Given the description of an element on the screen output the (x, y) to click on. 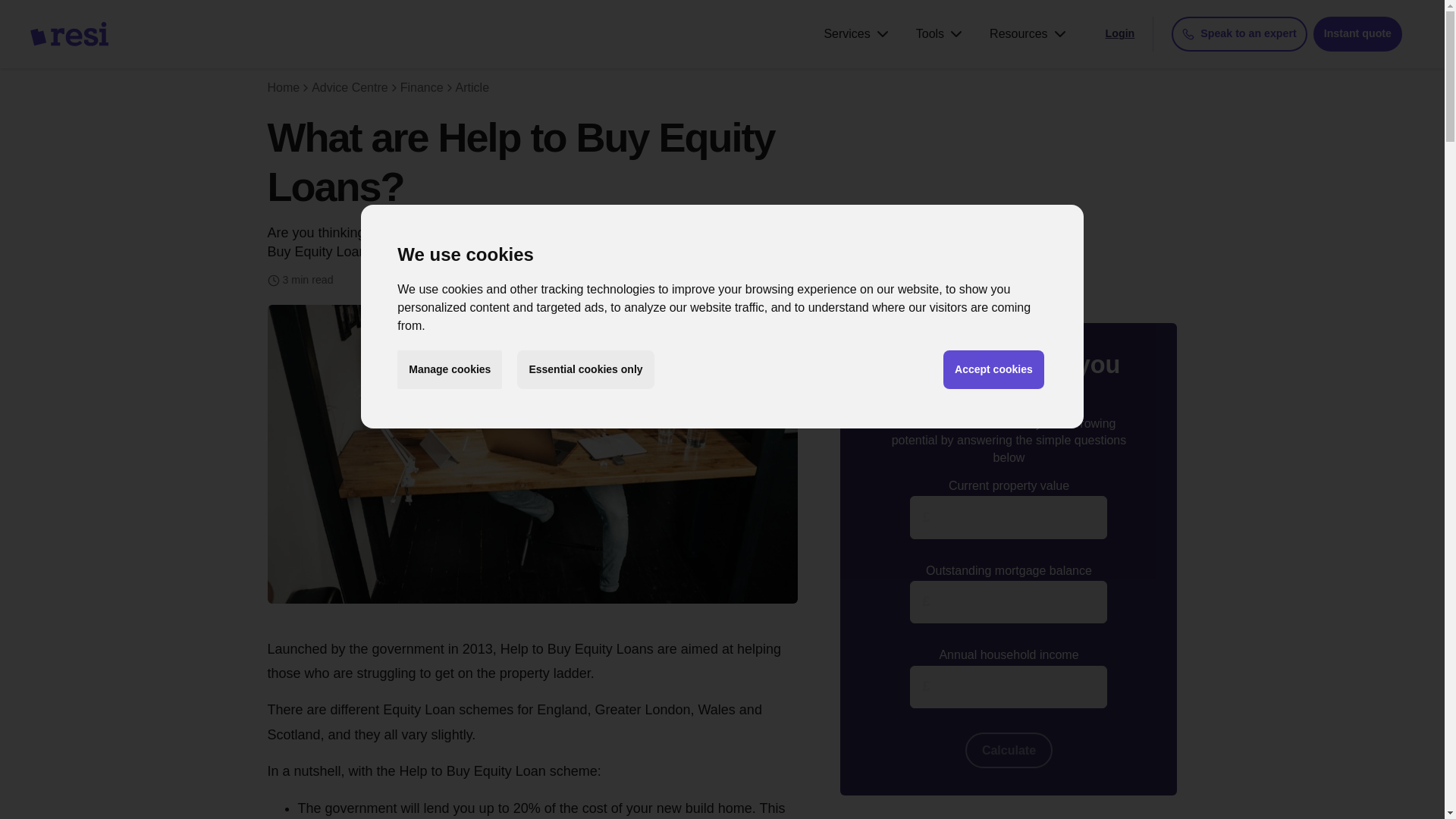
Calculate (1008, 750)
Home (282, 87)
Instant quote (1357, 33)
Finance (422, 87)
Speak to an expert (1239, 33)
Advice Centre (349, 87)
Login (1120, 33)
Accept cookies (993, 369)
Essential cookies only (584, 369)
Manage cookies (449, 369)
